Given the description of an element on the screen output the (x, y) to click on. 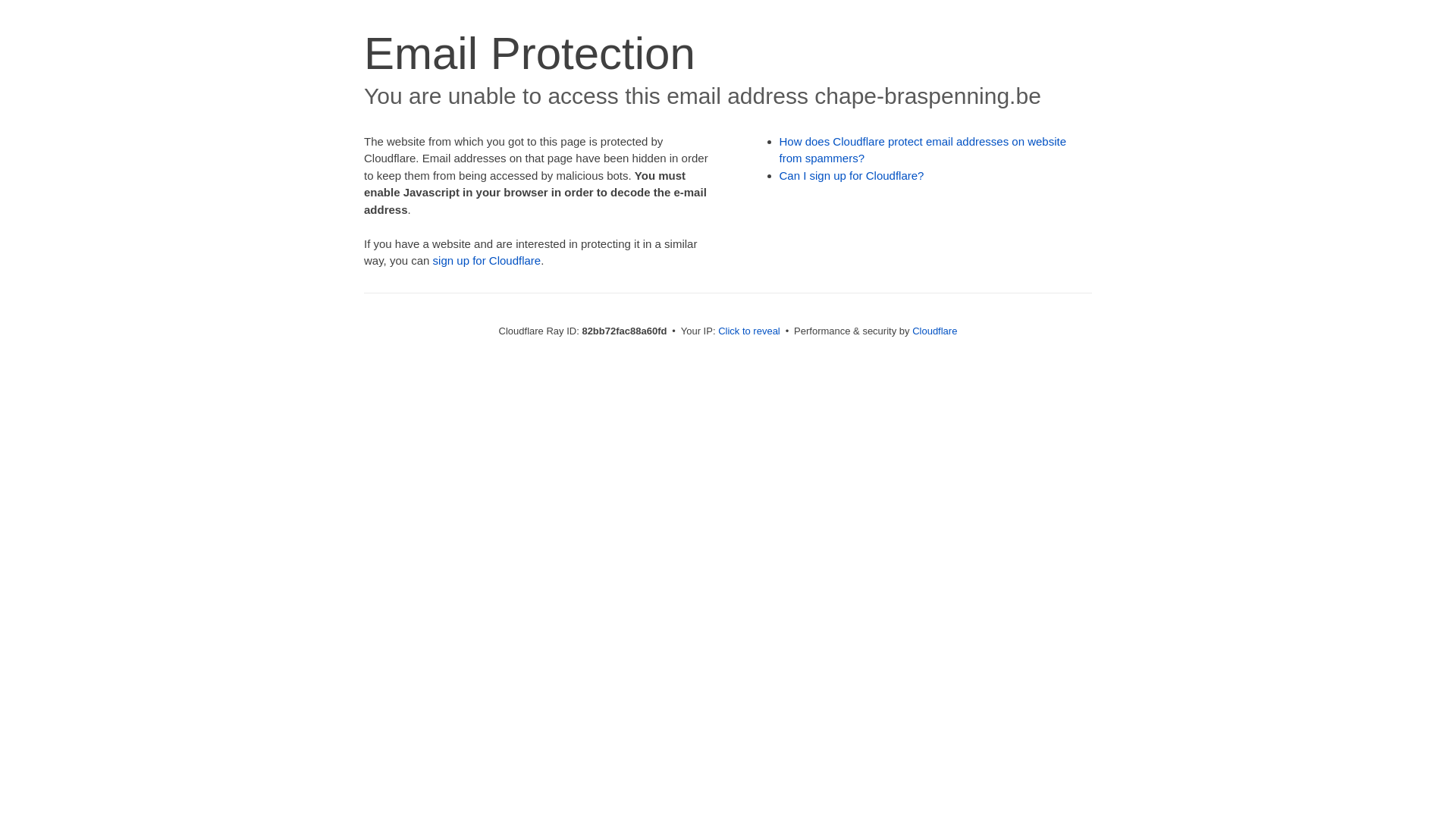
Cloudflare Element type: text (934, 330)
Can I sign up for Cloudflare? Element type: text (851, 175)
Click to reveal Element type: text (749, 330)
sign up for Cloudflare Element type: text (487, 260)
